Given the description of an element on the screen output the (x, y) to click on. 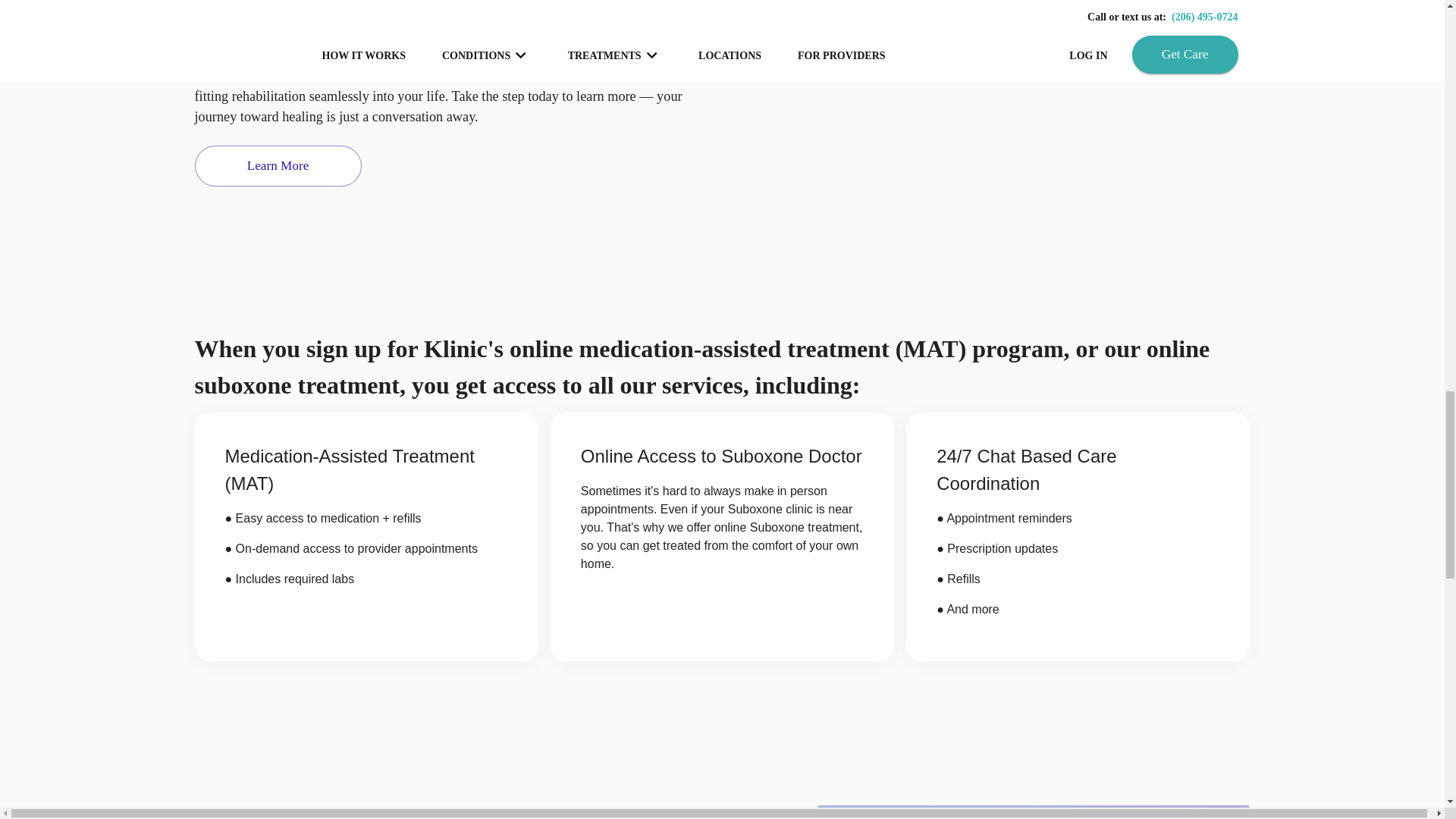
Learn More (277, 165)
